Given the description of an element on the screen output the (x, y) to click on. 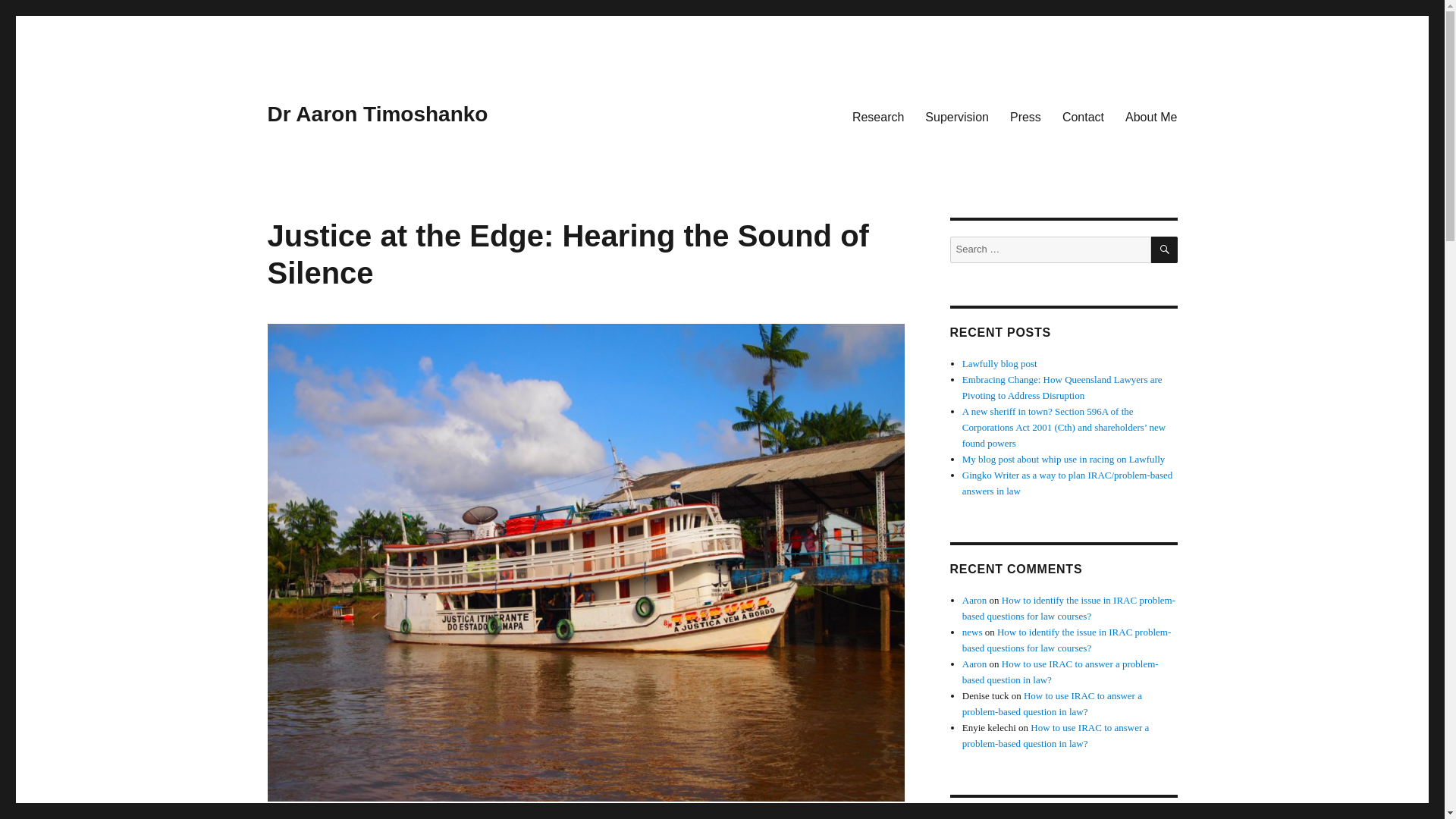
Press (1024, 116)
How to use IRAC to answer a problem-based question in law? (1051, 703)
SEARCH (1164, 249)
Research (877, 116)
How to use IRAC to answer a problem-based question in law? (1060, 671)
Supervision (956, 116)
How to use IRAC to answer a problem-based question in law? (1056, 735)
Aaron (974, 600)
